Given the description of an element on the screen output the (x, y) to click on. 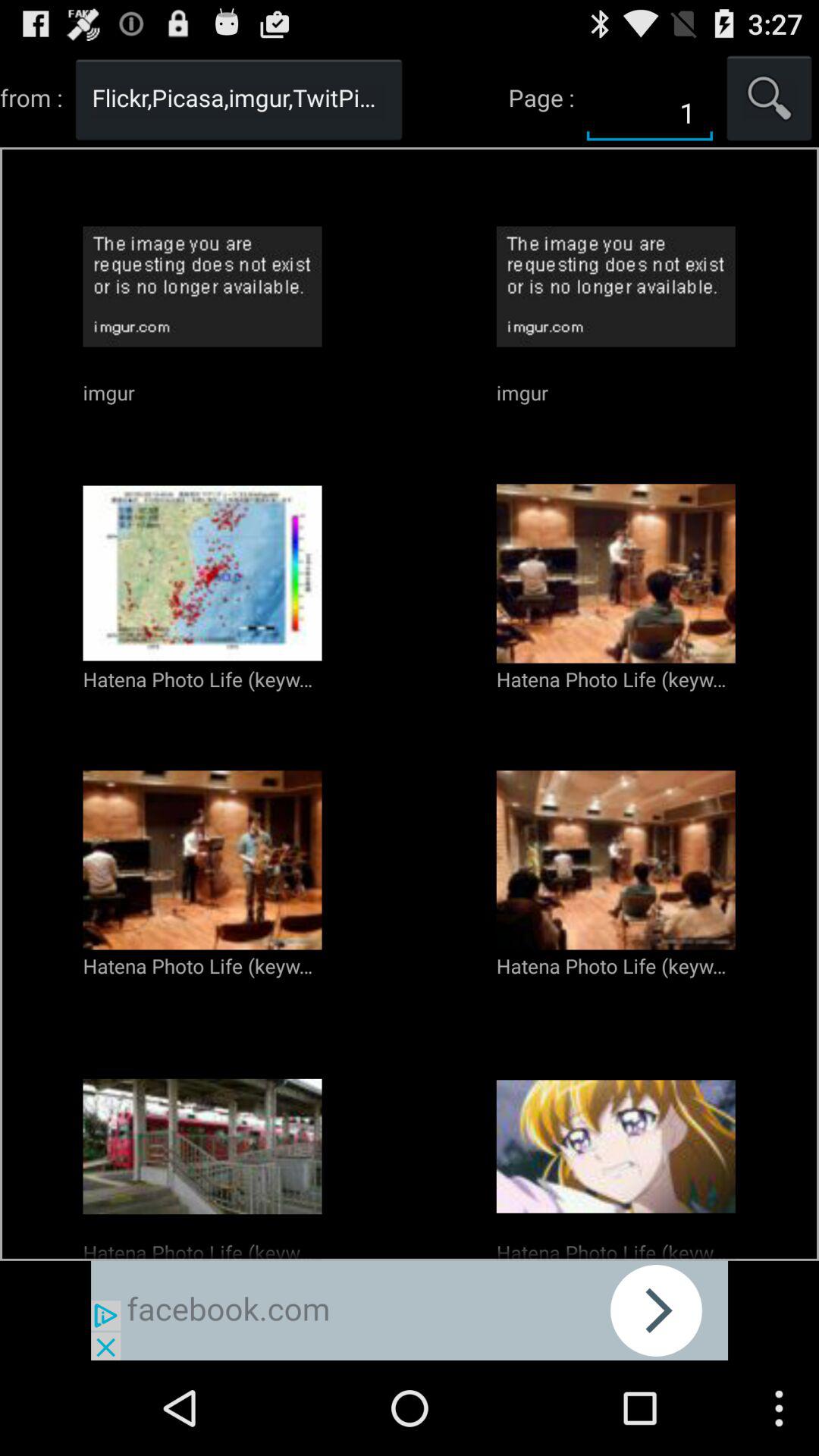
search the article (769, 97)
